Given the description of an element on the screen output the (x, y) to click on. 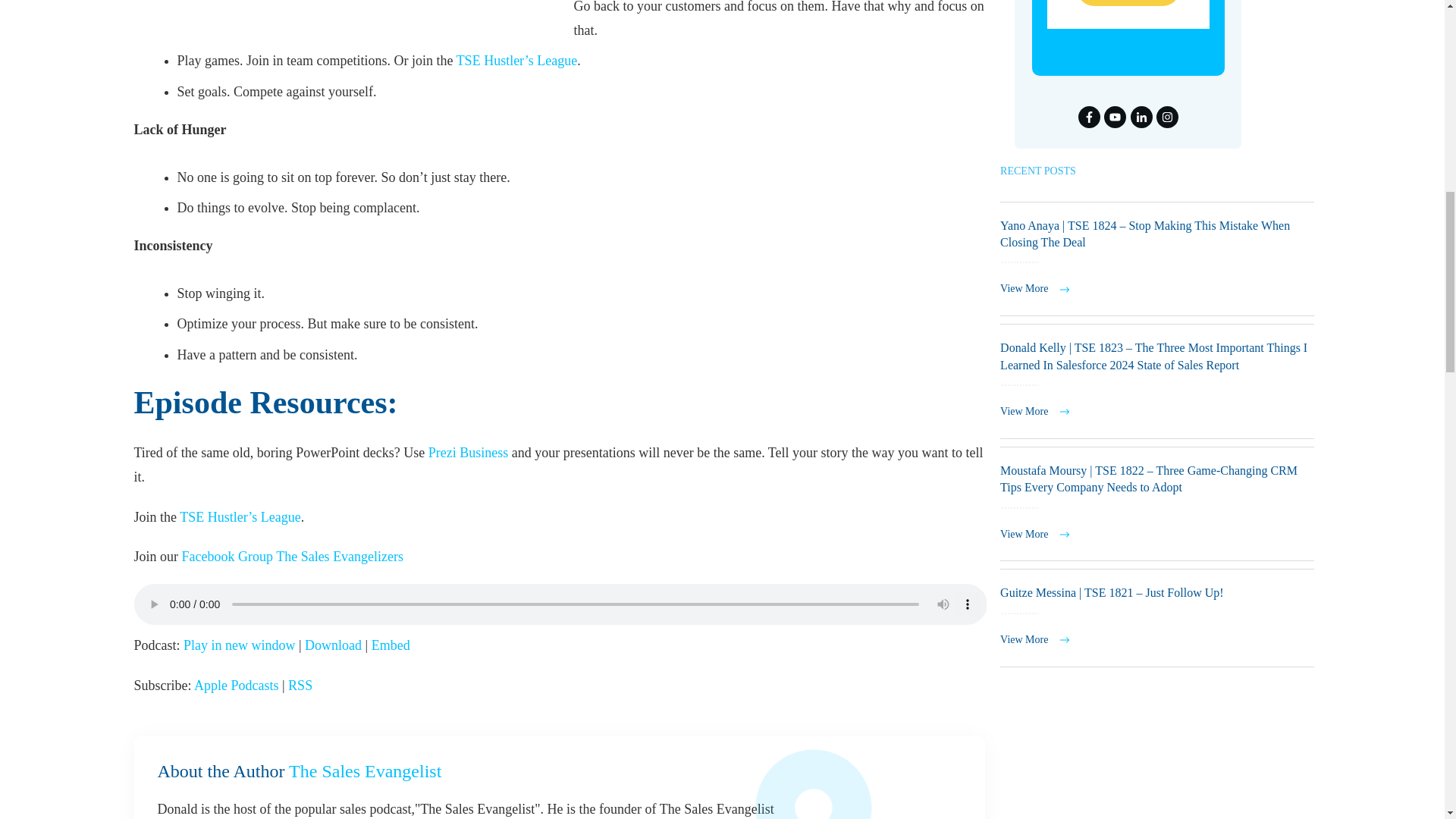
Subscribe on Apple Podcasts (236, 685)
The Sales Evangelist (364, 771)
Play in new window (239, 645)
Subscribe via RSS (300, 685)
Facebook Group The Sales Evangelizers (293, 556)
Prezi Business (468, 452)
Author Box 03 (888, 790)
Download (332, 645)
Play in new window (239, 645)
Embed (390, 645)
